Given the description of an element on the screen output the (x, y) to click on. 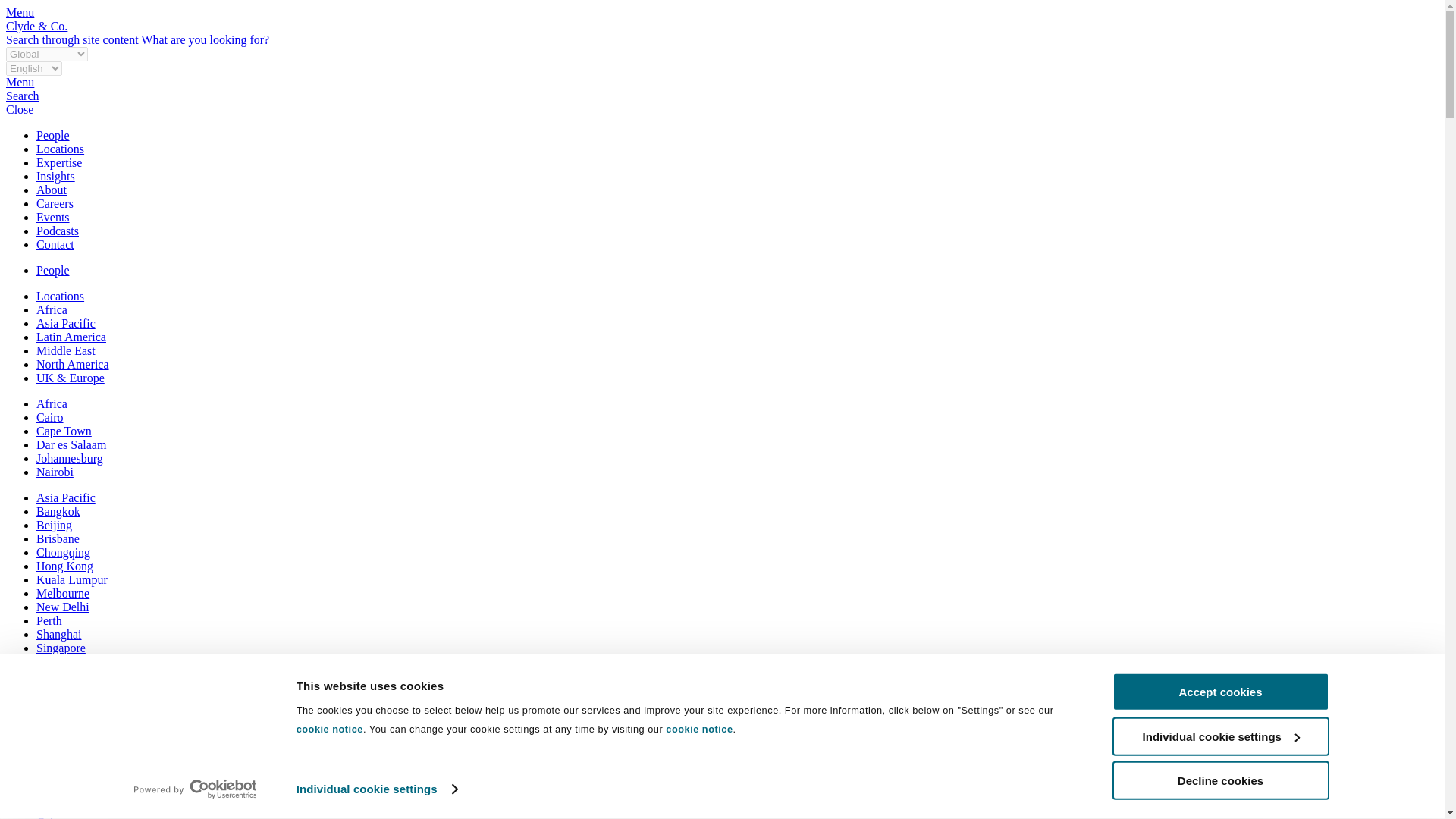
Individual cookie settings (377, 789)
cookie notice (698, 728)
cookie notice (329, 728)
